Given the description of an element on the screen output the (x, y) to click on. 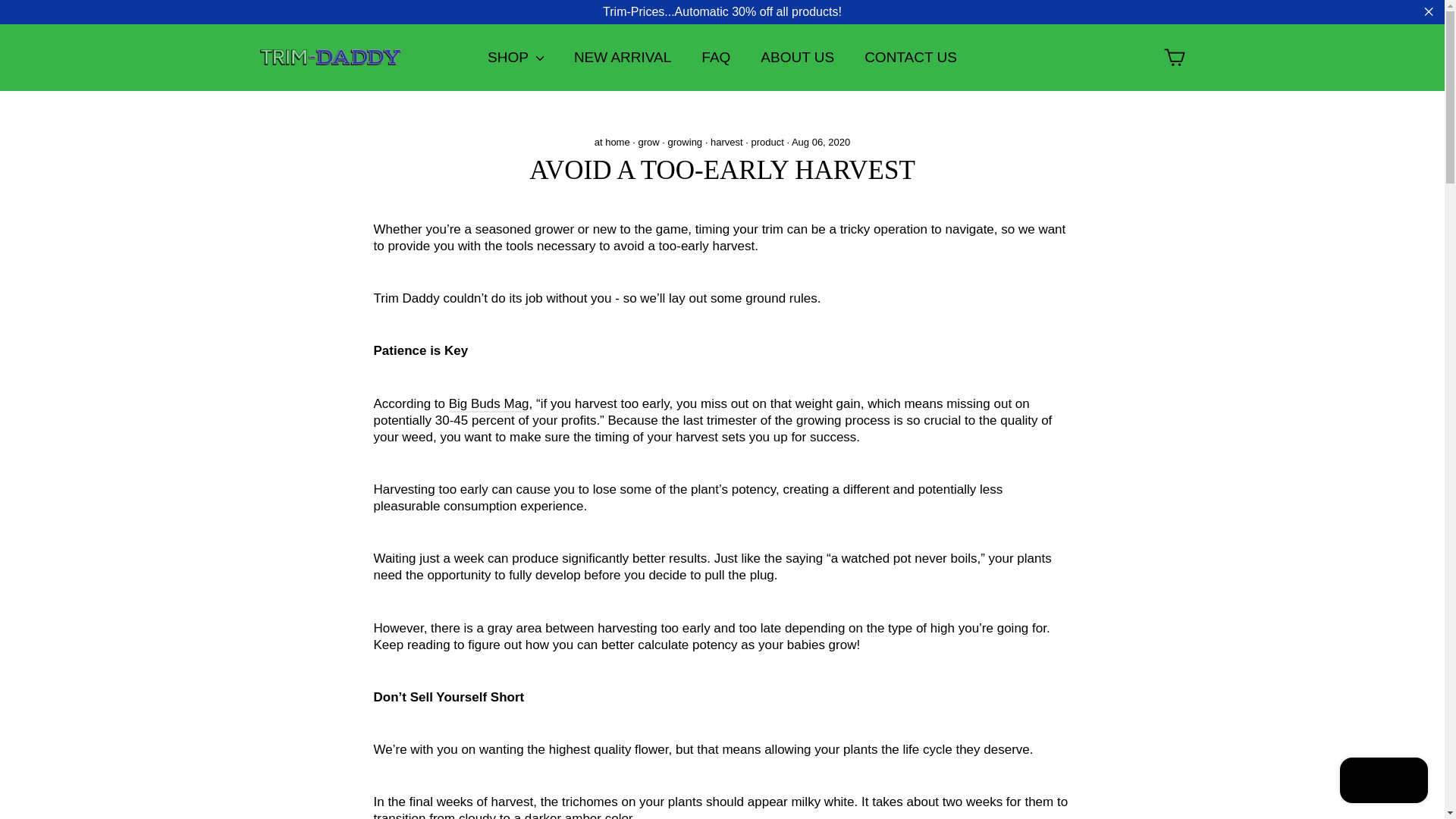
grow (649, 142)
NEW ARRIVAL (622, 57)
at home (612, 142)
Cart (1173, 57)
FAQ (715, 57)
Shopify online store chat (1383, 781)
CONTACT US (910, 57)
ABOUT US (796, 57)
SHOP (515, 57)
